Given the description of an element on the screen output the (x, y) to click on. 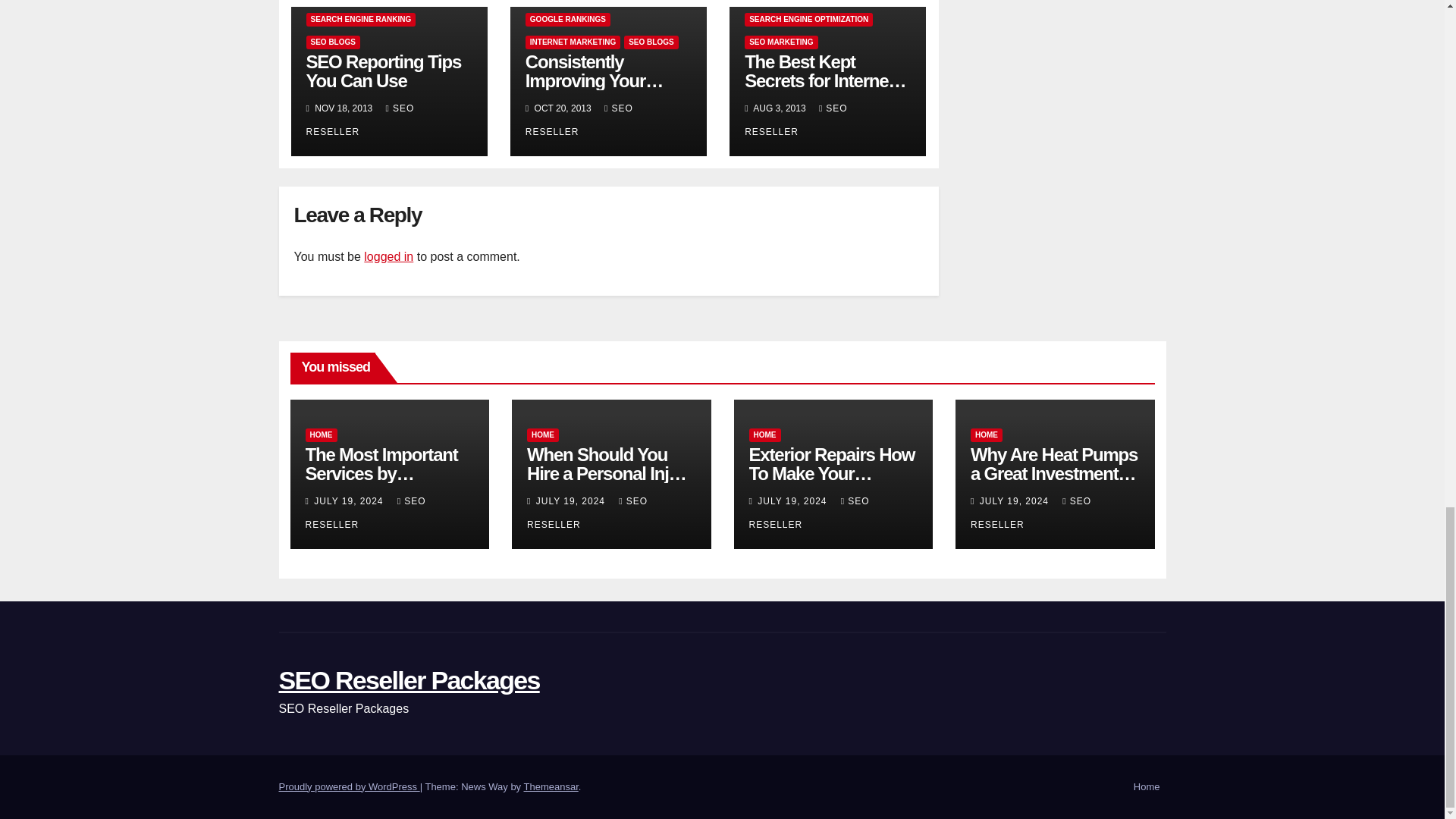
SEARCH ENGINE OPTIMIZATION (808, 19)
Home (1146, 786)
Permalink to: The Best Kept Secrets for Internet Marketing (824, 80)
Permalink to: SEO Reporting Tips You Can Use (383, 70)
Consistently Improving Your Search Rankings (594, 80)
Permalink to: Consistently Improving Your Search Rankings (594, 80)
SEO BLOGS (651, 42)
GOOGLE RANKINGS (567, 19)
SEO RESELLER (359, 120)
SEARCH ENGINE RANKING (360, 19)
SEO Reporting Tips You Can Use (383, 70)
INTERNET MARKETING (572, 42)
SEO BLOGS (332, 42)
